Given the description of an element on the screen output the (x, y) to click on. 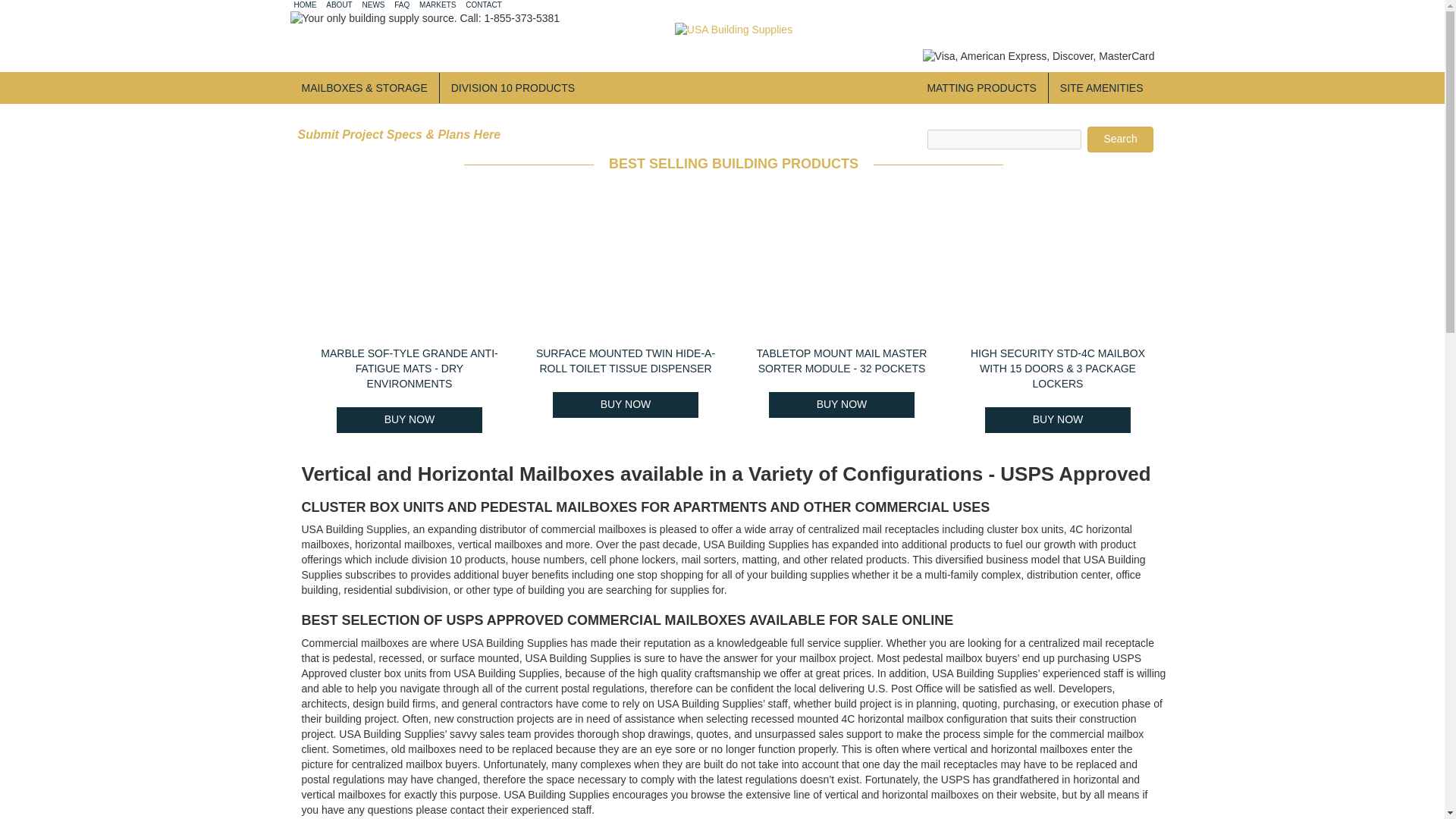
DIVISION 10 PRODUCTS (512, 87)
BUY NOW (409, 419)
Enter the terms you wish to search for. (1003, 139)
NEWS (373, 4)
SURFACE MOUNTED TWIN HIDE-A-ROLL TOILET TISSUE DISPENSER (624, 360)
MARBLE SOF-TYLE GRANDE ANTI-FATIGUE MATS - DRY ENVIRONMENTS (408, 368)
Create Account (1079, 7)
Search (1120, 139)
FAQ (401, 4)
MARKETS (437, 4)
Search (1120, 139)
Log In (1136, 7)
MATTING PRODUCTS (980, 87)
SITE AMENITIES (1101, 87)
CONTACT (483, 4)
